Given the description of an element on the screen output the (x, y) to click on. 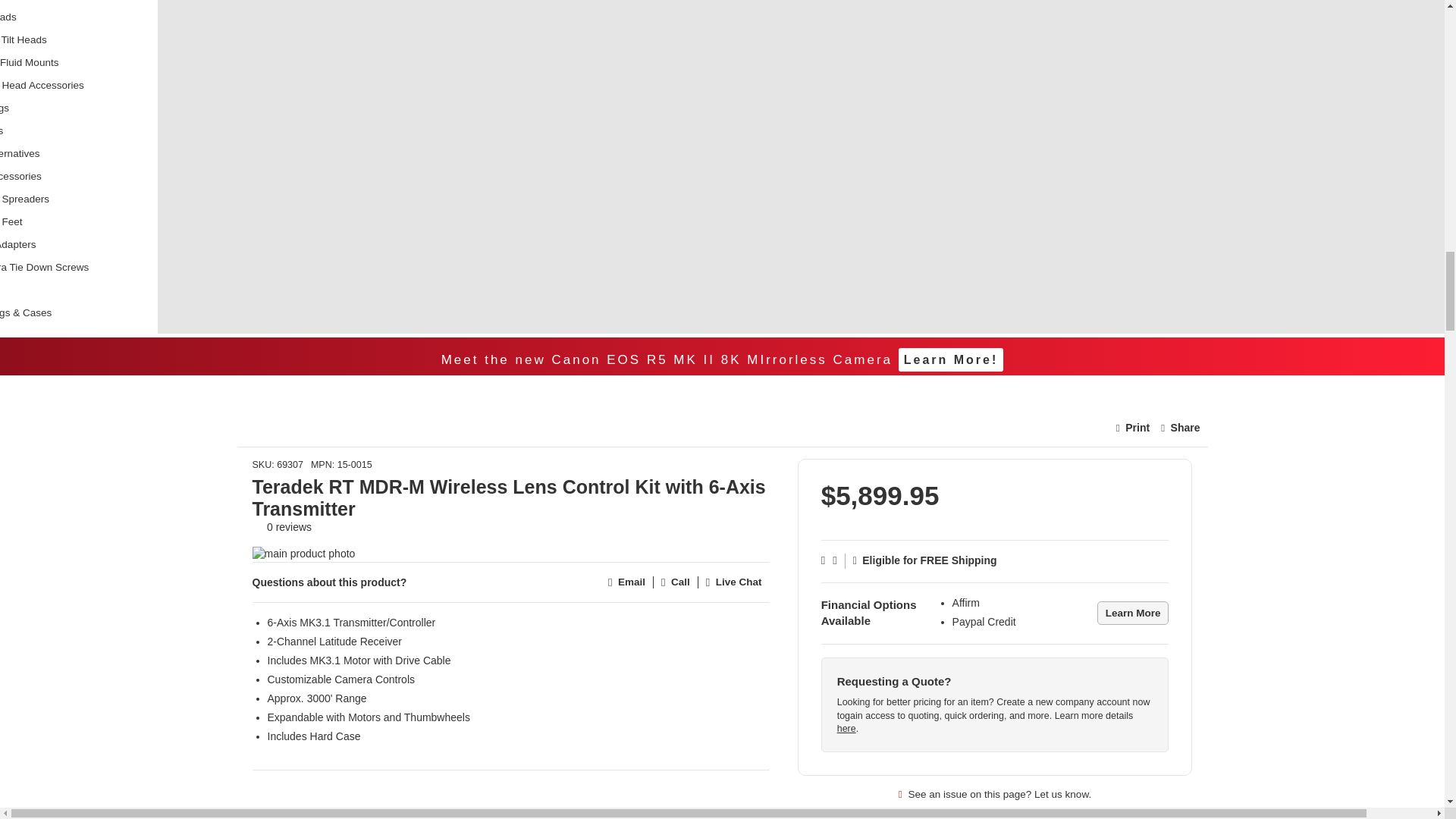
Report Issue (994, 794)
Share (1179, 427)
Print (1133, 427)
